Given the description of an element on the screen output the (x, y) to click on. 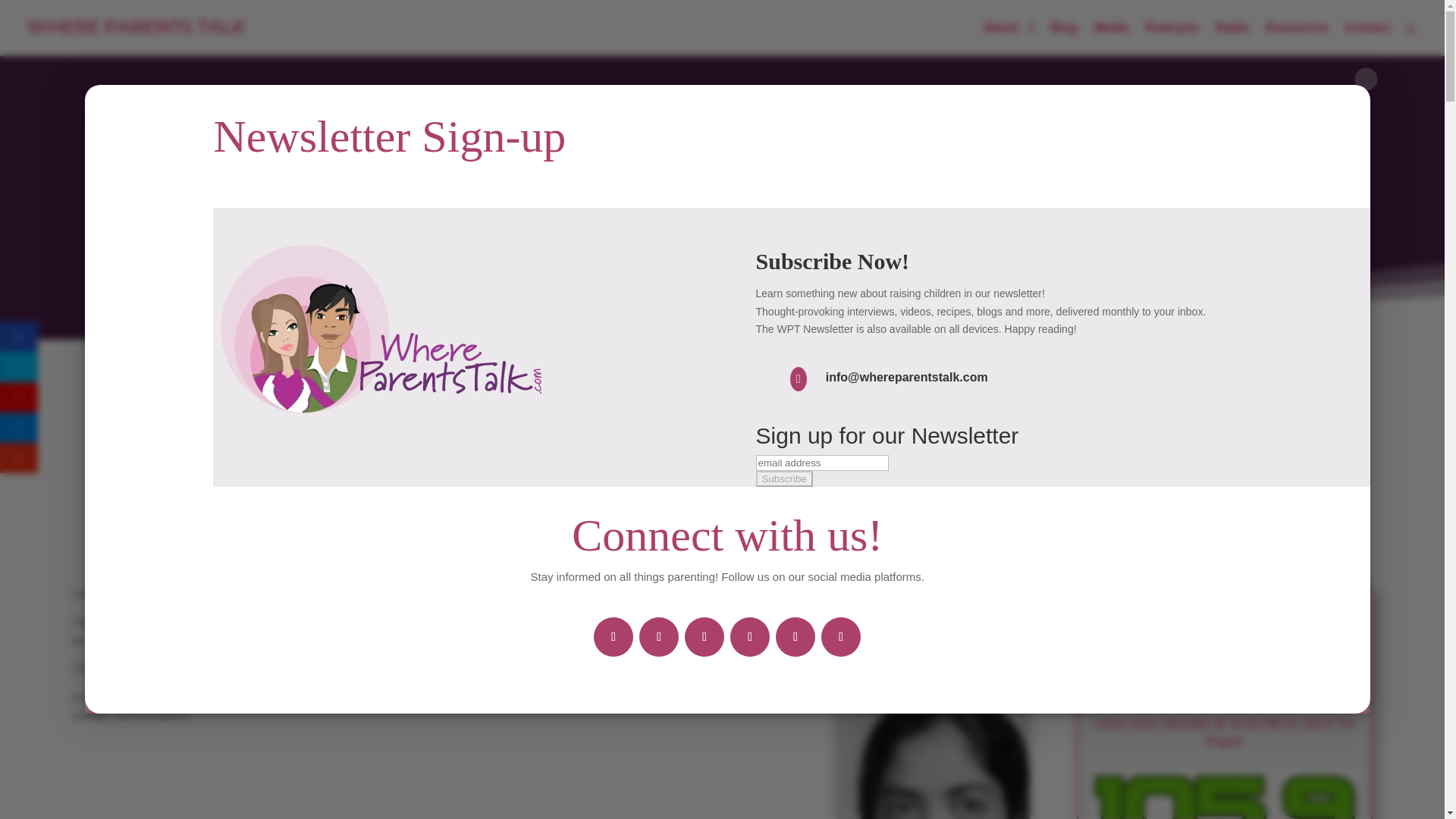
Media (1111, 39)
Region logo white (1224, 793)
Podcasts (1171, 39)
Subscribe (783, 478)
Family (1154, 497)
Contact (1366, 39)
0 Comments (1171, 527)
About (1008, 39)
Featured (1206, 497)
Perspectives (1275, 497)
Radio (1232, 39)
Resources (1296, 39)
